Given the description of an element on the screen output the (x, y) to click on. 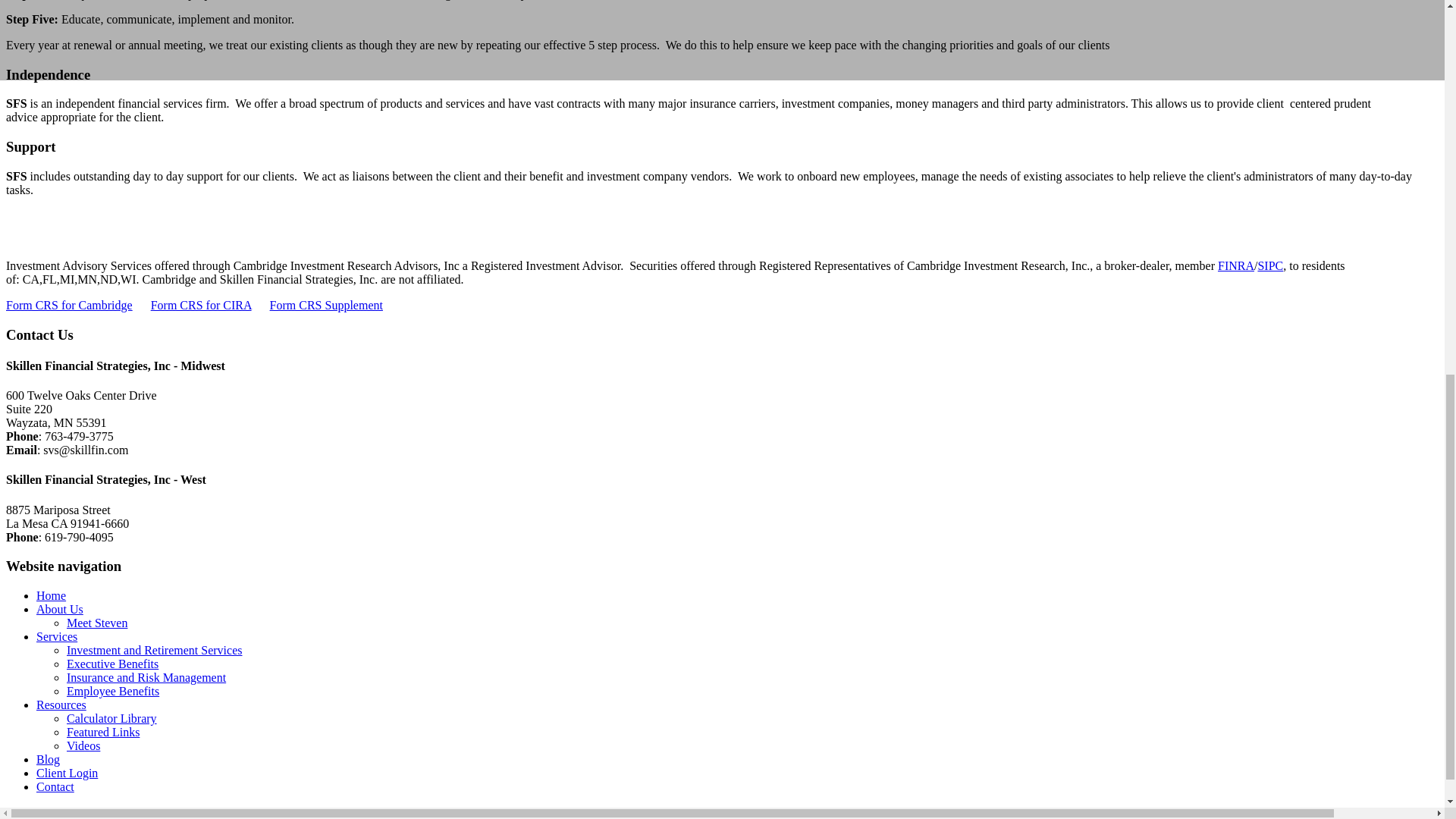
Form CRS Supplement (325, 305)
Form CRS for CIRA (201, 305)
Form CRS for Cambridge (68, 305)
SIPC (1269, 265)
Insurance and Risk Management (145, 676)
FINRA (1235, 265)
Investment and Retirement Services (153, 649)
About Us (59, 608)
Meet Steven (97, 622)
Executive Benefits (112, 663)
Calculator Library (111, 717)
Services (56, 635)
Employee Benefits (112, 690)
Home (50, 594)
Resources (60, 704)
